Given the description of an element on the screen output the (x, y) to click on. 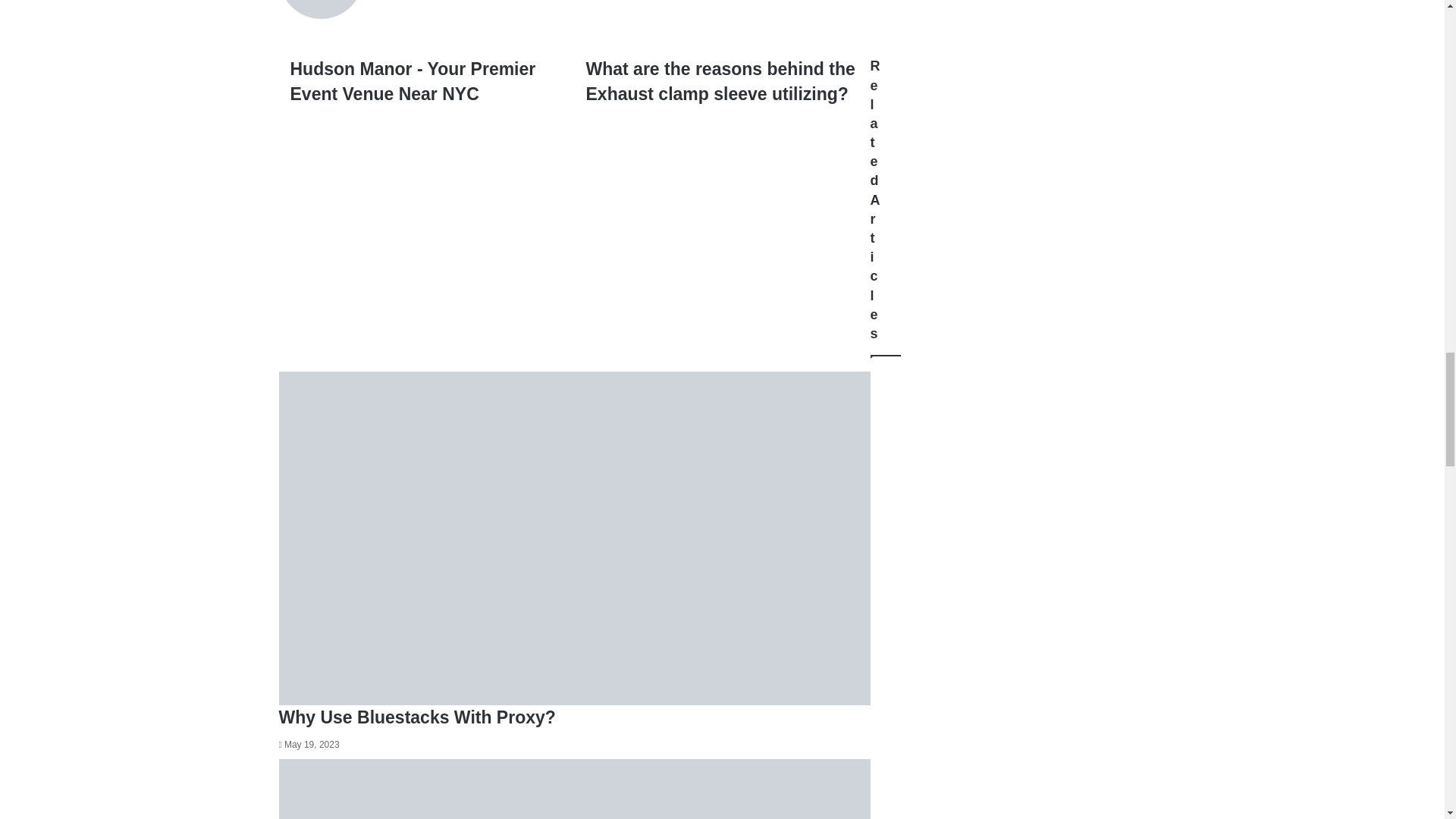
Hudson Manor - Your Premier Event Venue Near NYC (425, 80)
